Given the description of an element on the screen output the (x, y) to click on. 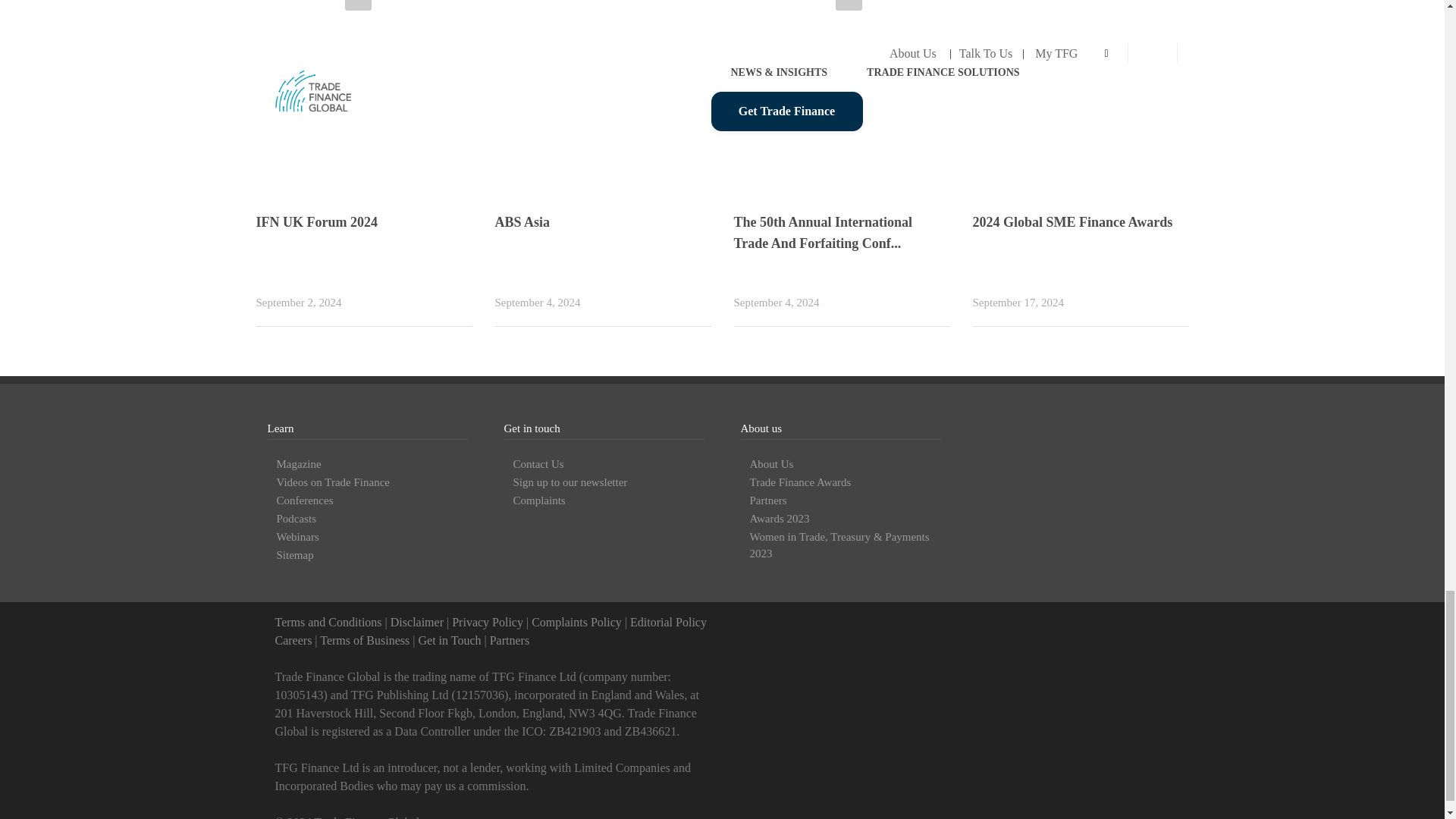
Complaints Policy (576, 621)
Editorial Policy (668, 621)
Privacy Policy (486, 621)
Disclaimer (417, 621)
Trade Finance Jobs (293, 640)
Terms and Conditions (328, 621)
Terms of Business (364, 640)
